Given the description of an element on the screen output the (x, y) to click on. 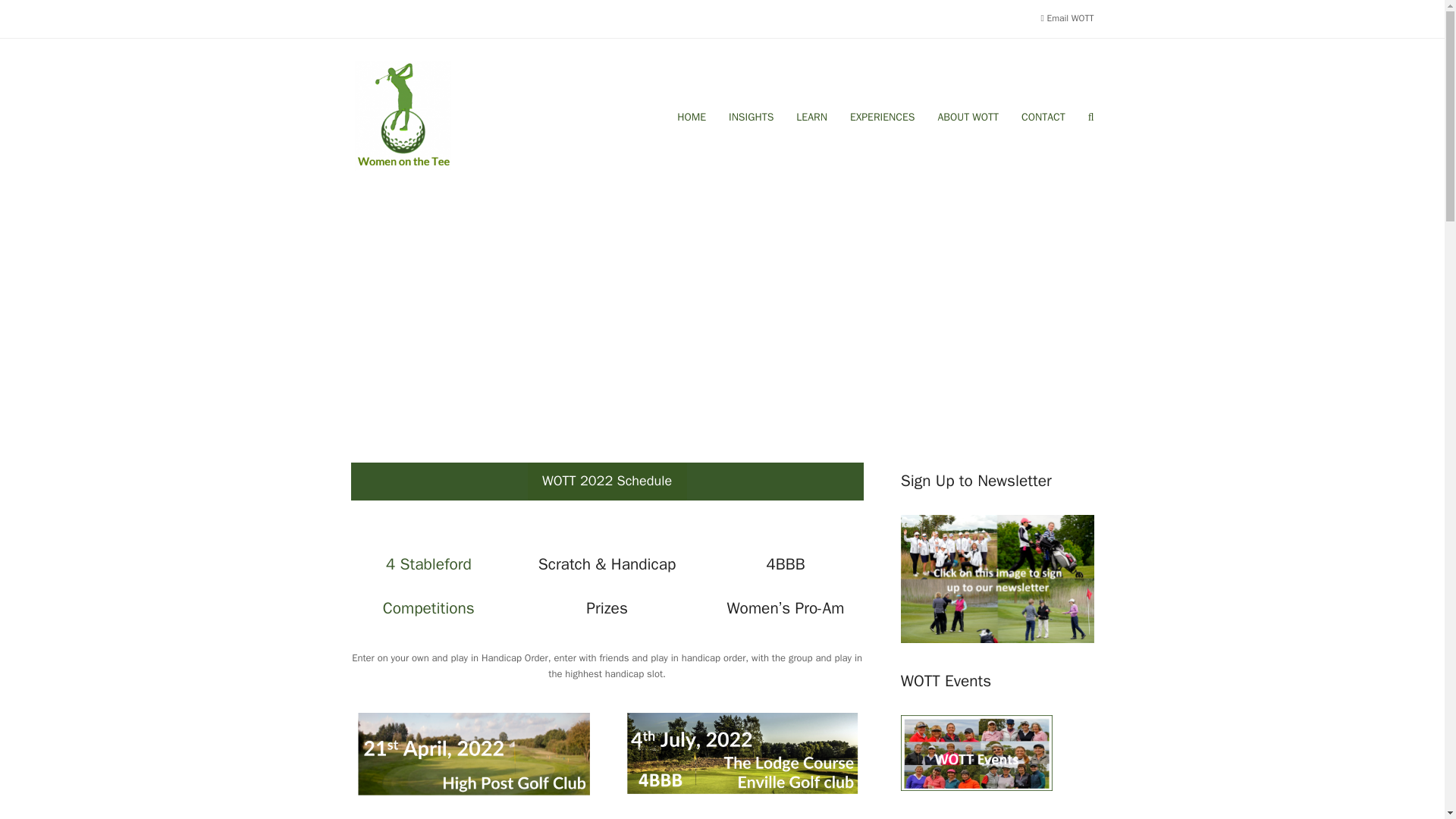
EXPERIENCES (882, 117)
LEARN (811, 117)
INSIGHTS (750, 117)
Email WOTT (1069, 18)
ABOUT WOTT (968, 117)
High Post (472, 757)
HOME (691, 117)
Home Page Experience (740, 758)
